Given the description of an element on the screen output the (x, y) to click on. 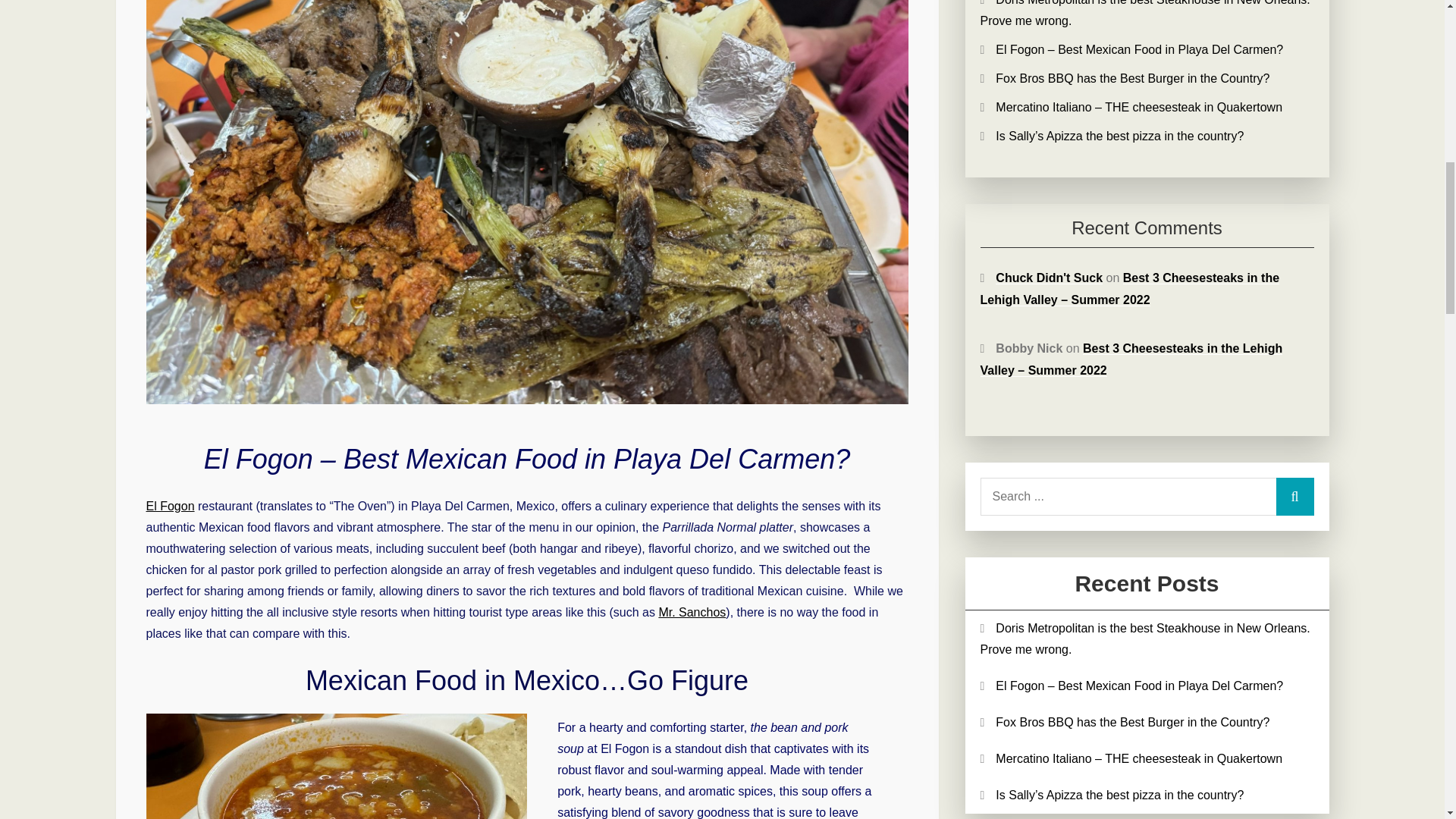
Search (1294, 496)
El Fogon (169, 505)
Search for: (1146, 496)
Mr. Sanchos (691, 612)
Chuck Didn't Suck (1048, 277)
Fox Bros BBQ has the Best Burger in the Country? (1132, 78)
Fox Bros BBQ has the Best Burger in the Country? (1132, 721)
